Given the description of an element on the screen output the (x, y) to click on. 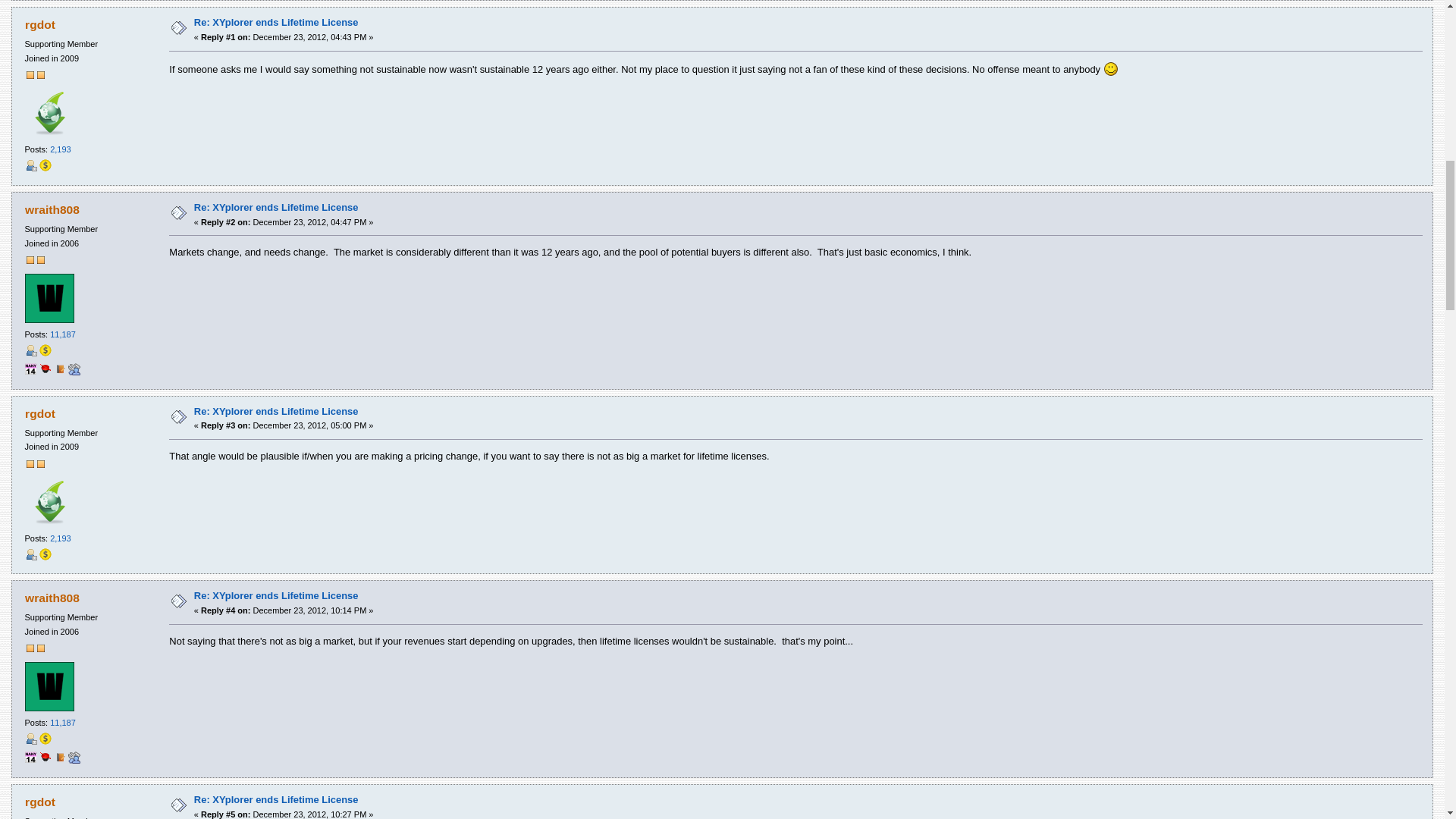
smiley (1110, 68)
View the profile of rgdot (39, 413)
csnacks badge (44, 371)
Fourteen NANY Badges (30, 371)
Donate to Member (44, 349)
Donate to Member (44, 164)
View the profile of rgdot (39, 24)
Hardware Hacker (74, 371)
View Profile (30, 349)
View Profile (30, 164)
